Given the description of an element on the screen output the (x, y) to click on. 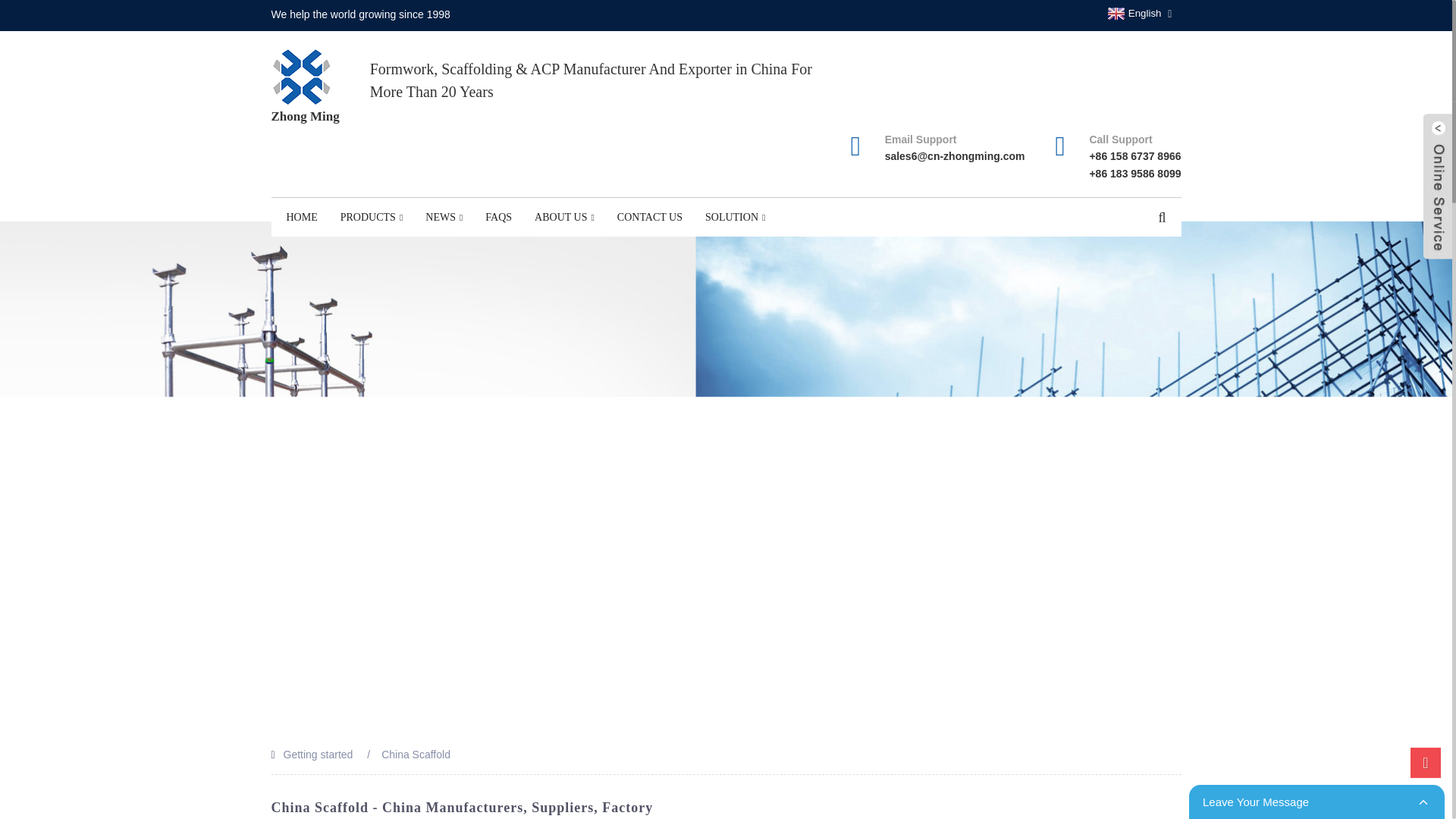
CONTACT US (649, 217)
ABOUT US (563, 217)
English (1132, 13)
SOLUTION (735, 217)
PRODUCTS (371, 217)
FAQS (498, 217)
NEWS (443, 217)
HOME (302, 217)
